Given the description of an element on the screen output the (x, y) to click on. 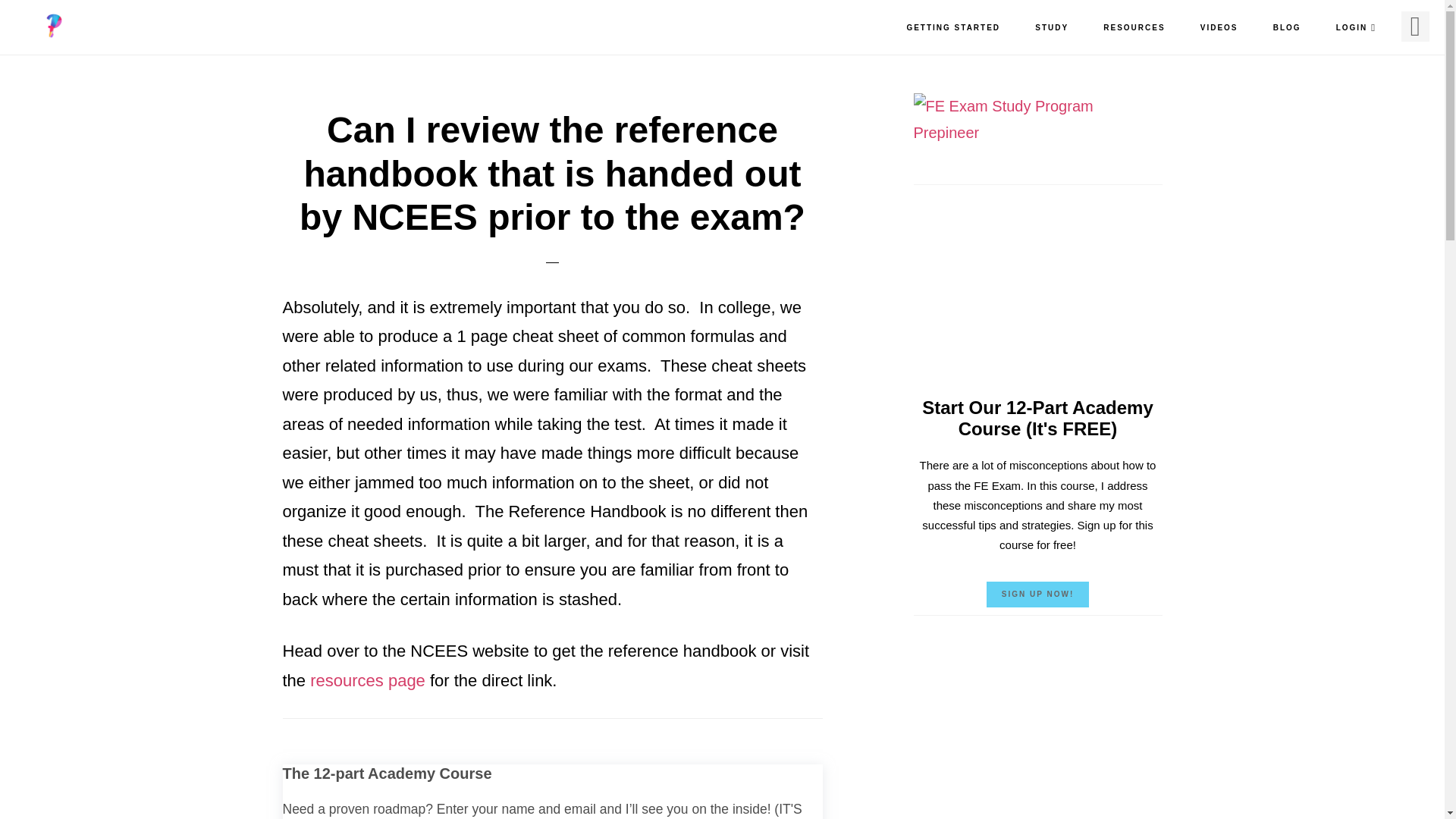
RESOURCES (1133, 27)
BLOG (1286, 27)
LOGIN (1355, 27)
VIDEOS (1219, 27)
STUDY (1051, 27)
GETTING STARTED (952, 27)
resources page (367, 680)
SHOW OFFSCREEN CONTENT (1414, 26)
